Given the description of an element on the screen output the (x, y) to click on. 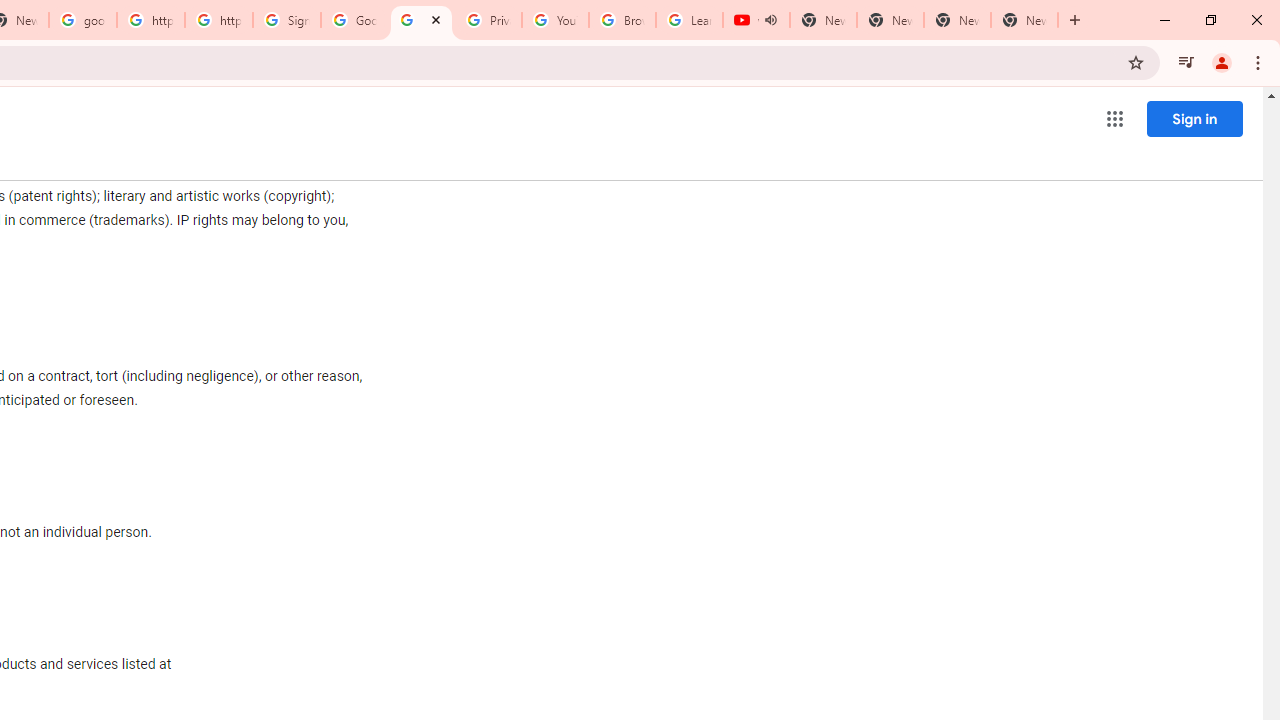
https://scholar.google.com/ (219, 20)
Sign in - Google Accounts (287, 20)
